Given the description of an element on the screen output the (x, y) to click on. 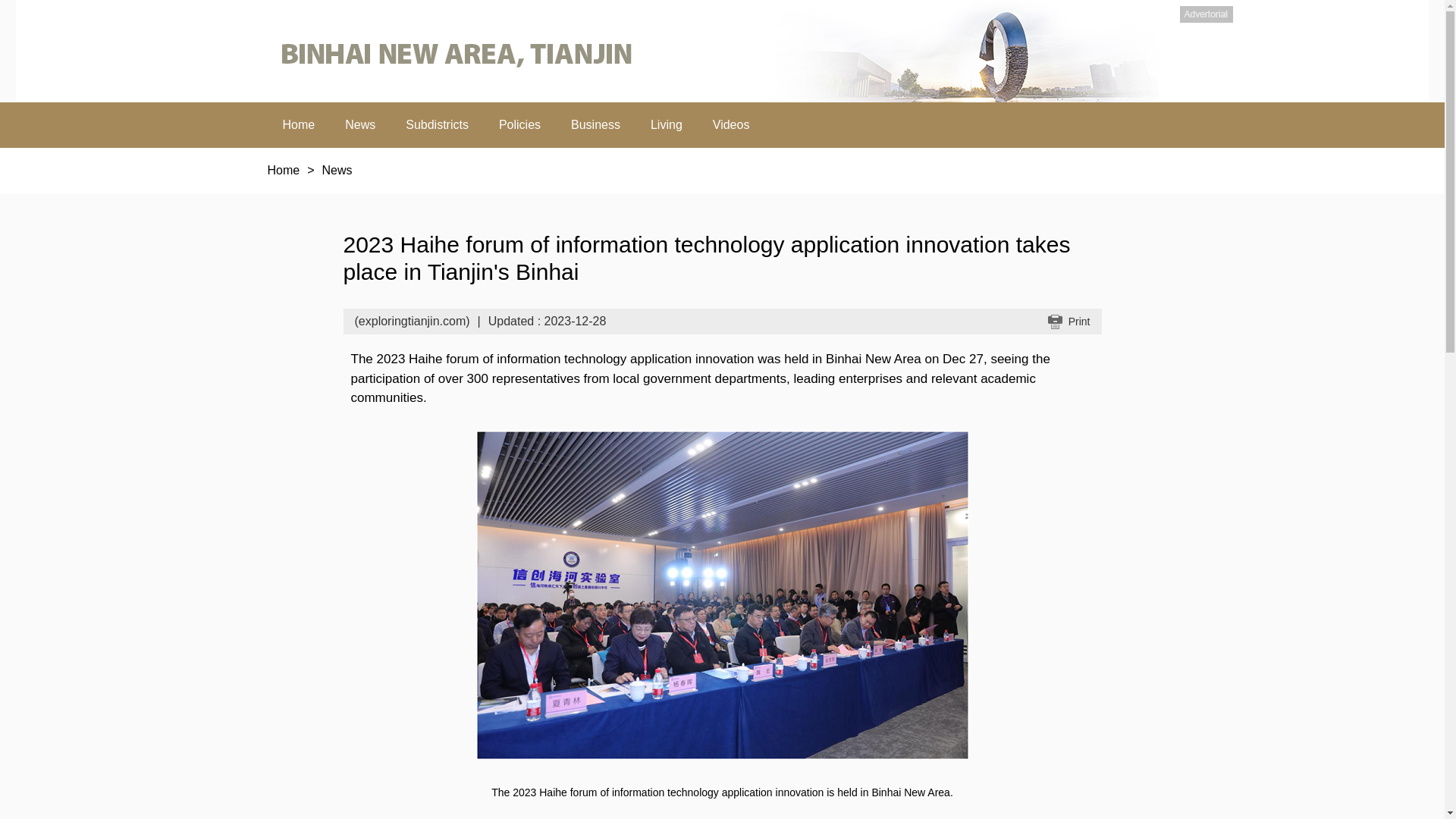
Home (282, 169)
Business (595, 125)
News (360, 125)
Subdistricts (436, 125)
Policies (1069, 321)
Videos (519, 125)
News (731, 125)
Home (336, 169)
